Given the description of an element on the screen output the (x, y) to click on. 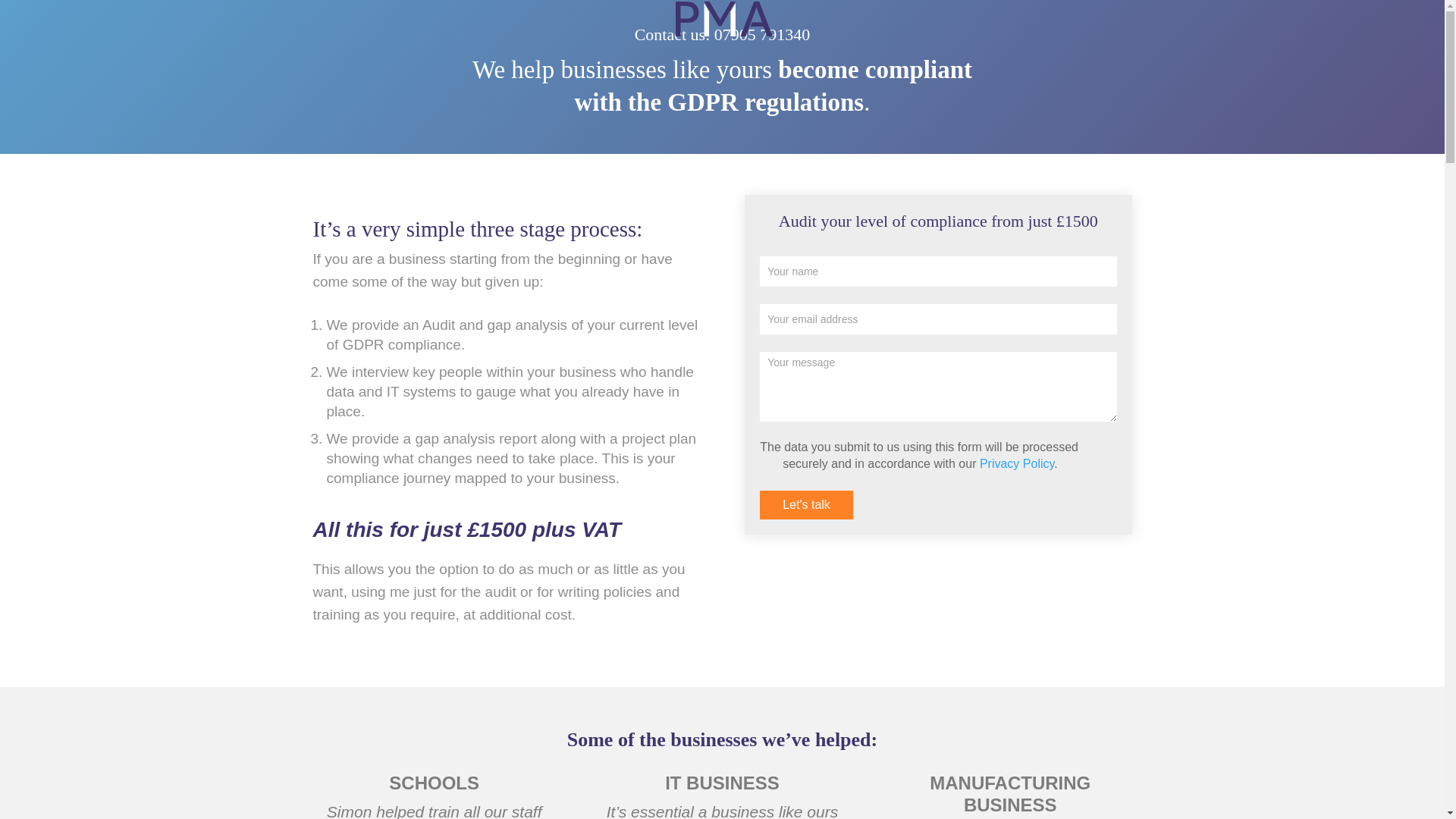
Let's talk (806, 504)
07905 791340 (762, 34)
Privacy Policy (1016, 463)
